Given the description of an element on the screen output the (x, y) to click on. 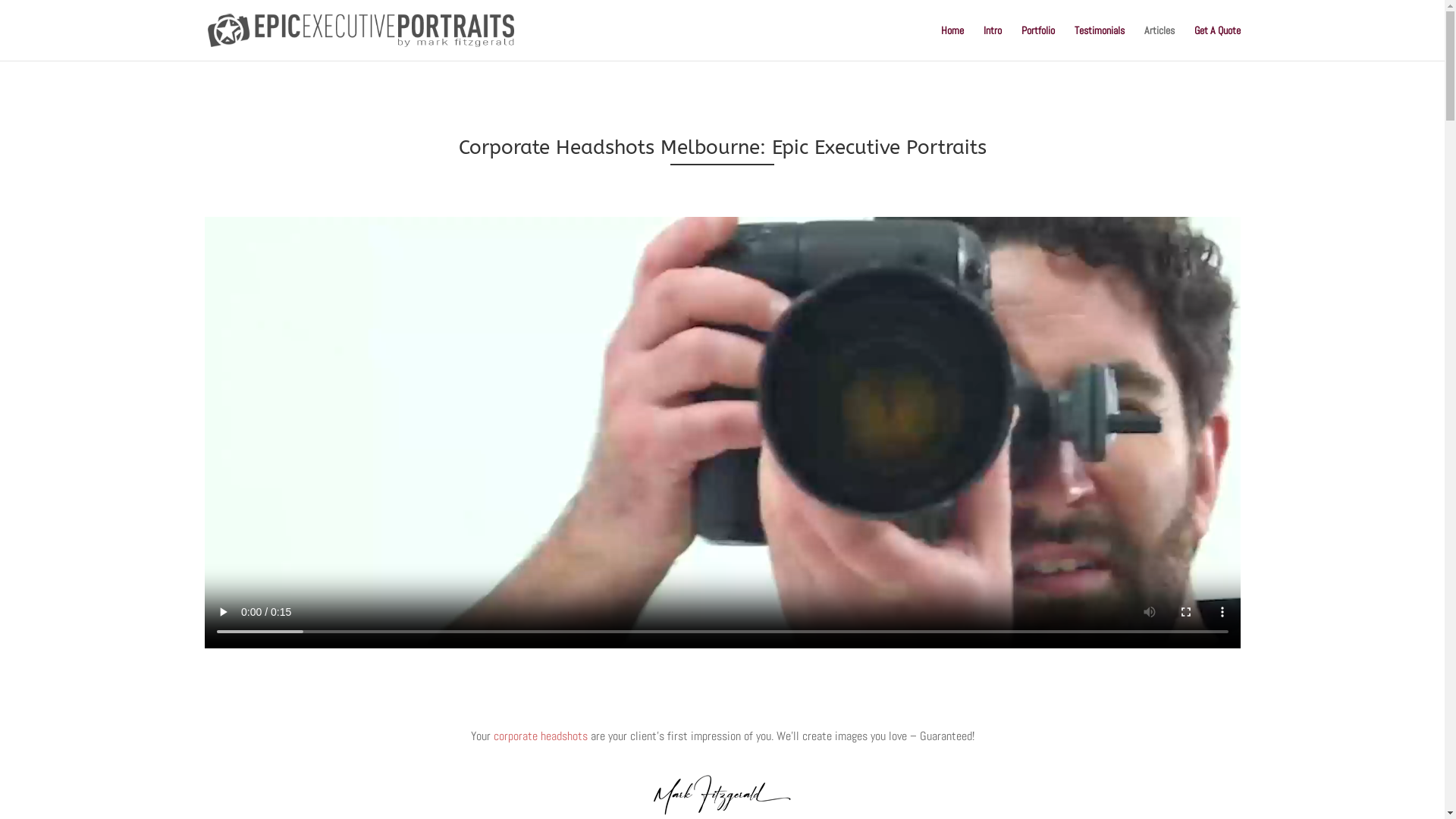
Mark-fitzgerald-photographer-signature-1 Element type: hover (721, 795)
Intro Element type: text (991, 42)
Testimonials Element type: text (1098, 42)
Portfolio Element type: text (1037, 42)
corporate headshots Element type: text (539, 735)
Get A Quote Element type: text (1216, 42)
Home Element type: text (951, 42)
Articles Element type: text (1158, 42)
